Given the description of an element on the screen output the (x, y) to click on. 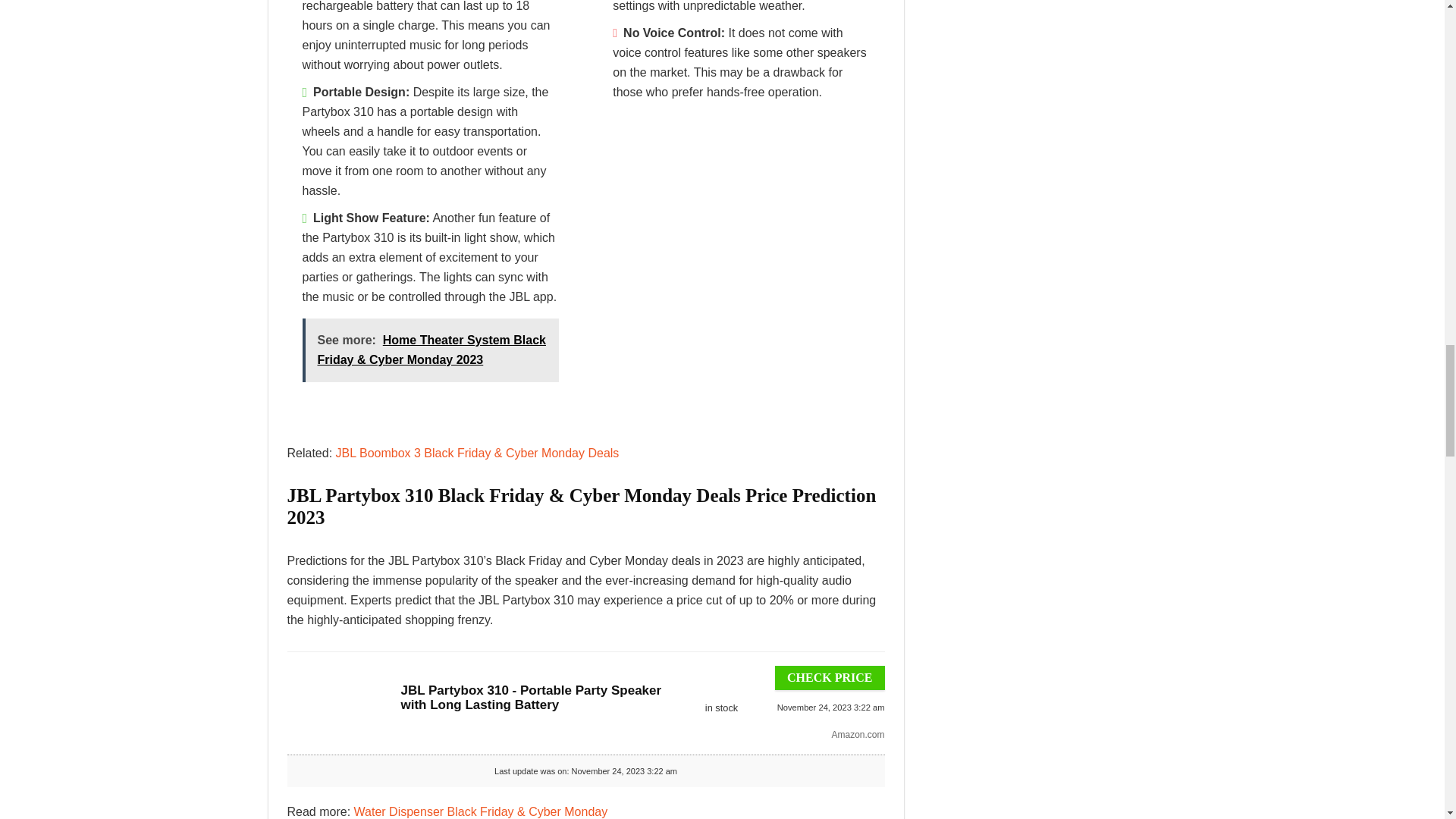
Last update was in: November 24, 2023 3:22 am (720, 707)
